Given the description of an element on the screen output the (x, y) to click on. 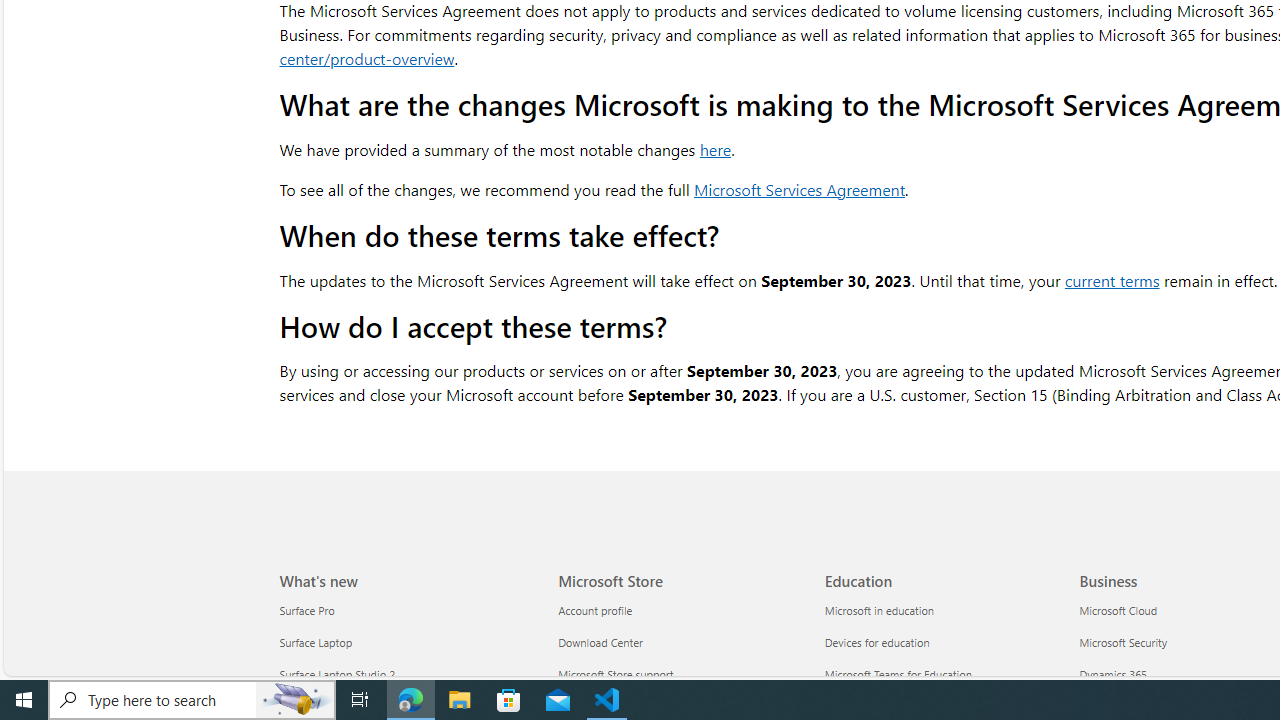
Surface Pro What's new (307, 611)
Microsoft in education Education (879, 611)
Microsoft Store support Microsoft Store (616, 674)
Download Center Microsoft Store (600, 642)
Devices for education (945, 643)
Account profile (679, 610)
Microsoft Store support (679, 674)
Surface Laptop What's new (316, 642)
Surface Laptop Studio 2 What's new (337, 674)
